Given the description of an element on the screen output the (x, y) to click on. 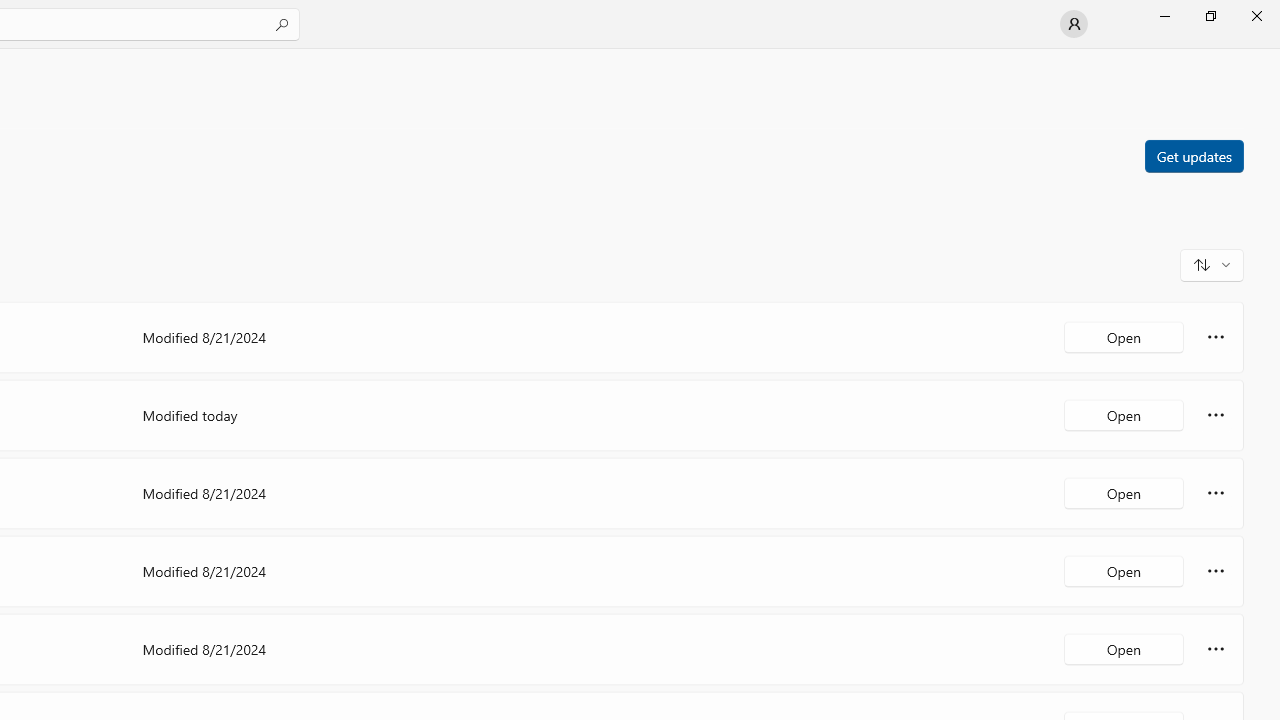
Minimize Microsoft Store (1164, 15)
Get updates (1193, 155)
Sort and filter (1212, 263)
Restore Microsoft Store (1210, 15)
User profile (1073, 24)
More options (1215, 648)
Close Microsoft Store (1256, 15)
Open (1123, 648)
